Given the description of an element on the screen output the (x, y) to click on. 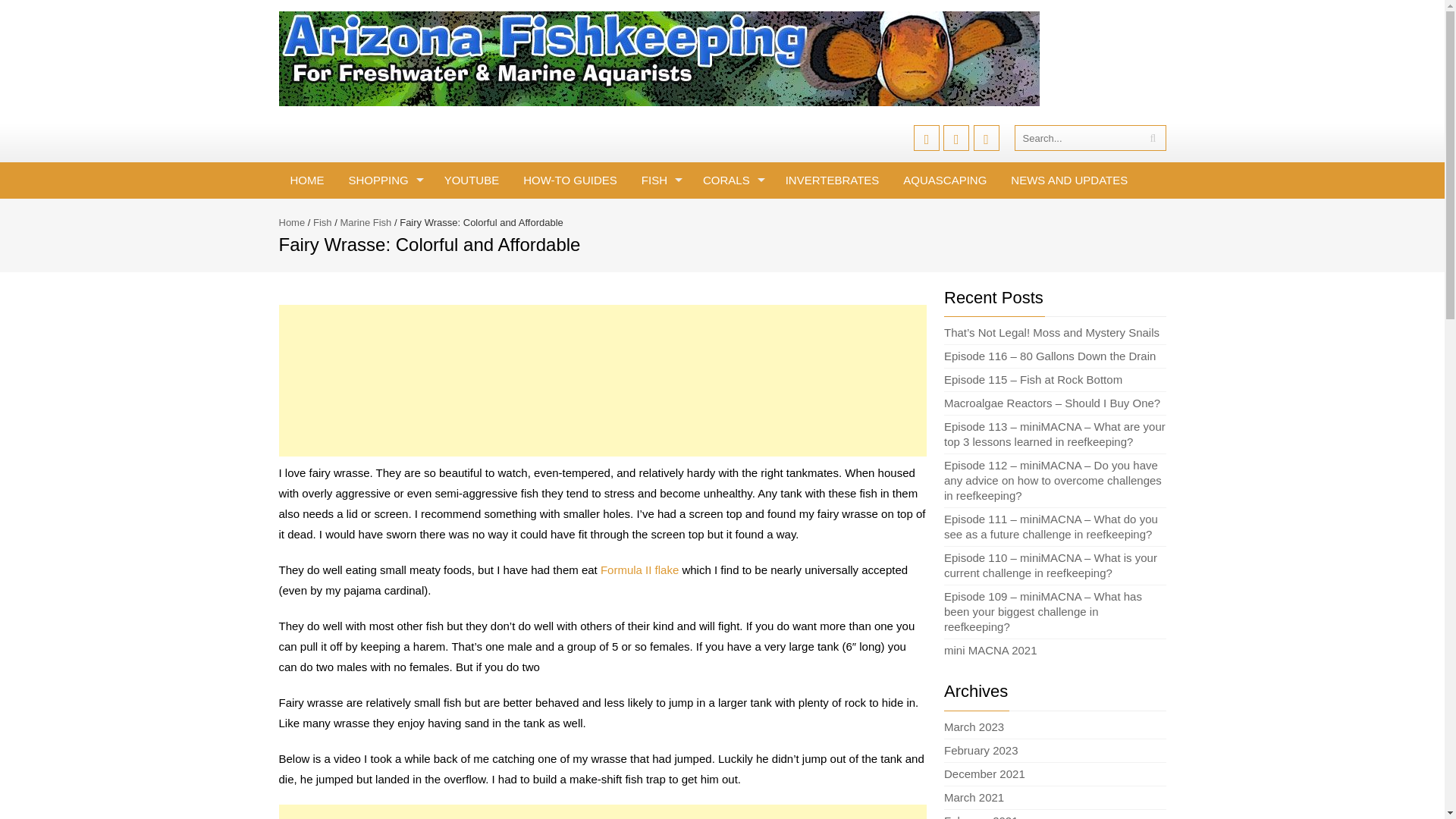
AQUASCAPING (944, 180)
Advertisement (602, 380)
Home (292, 222)
FISH (660, 180)
HOME (307, 180)
YOUTUBE (471, 180)
Advertisement (602, 811)
NEWS AND UPDATES (1068, 180)
CORALS (732, 180)
HOW-TO GUIDES (570, 180)
